Given the description of an element on the screen output the (x, y) to click on. 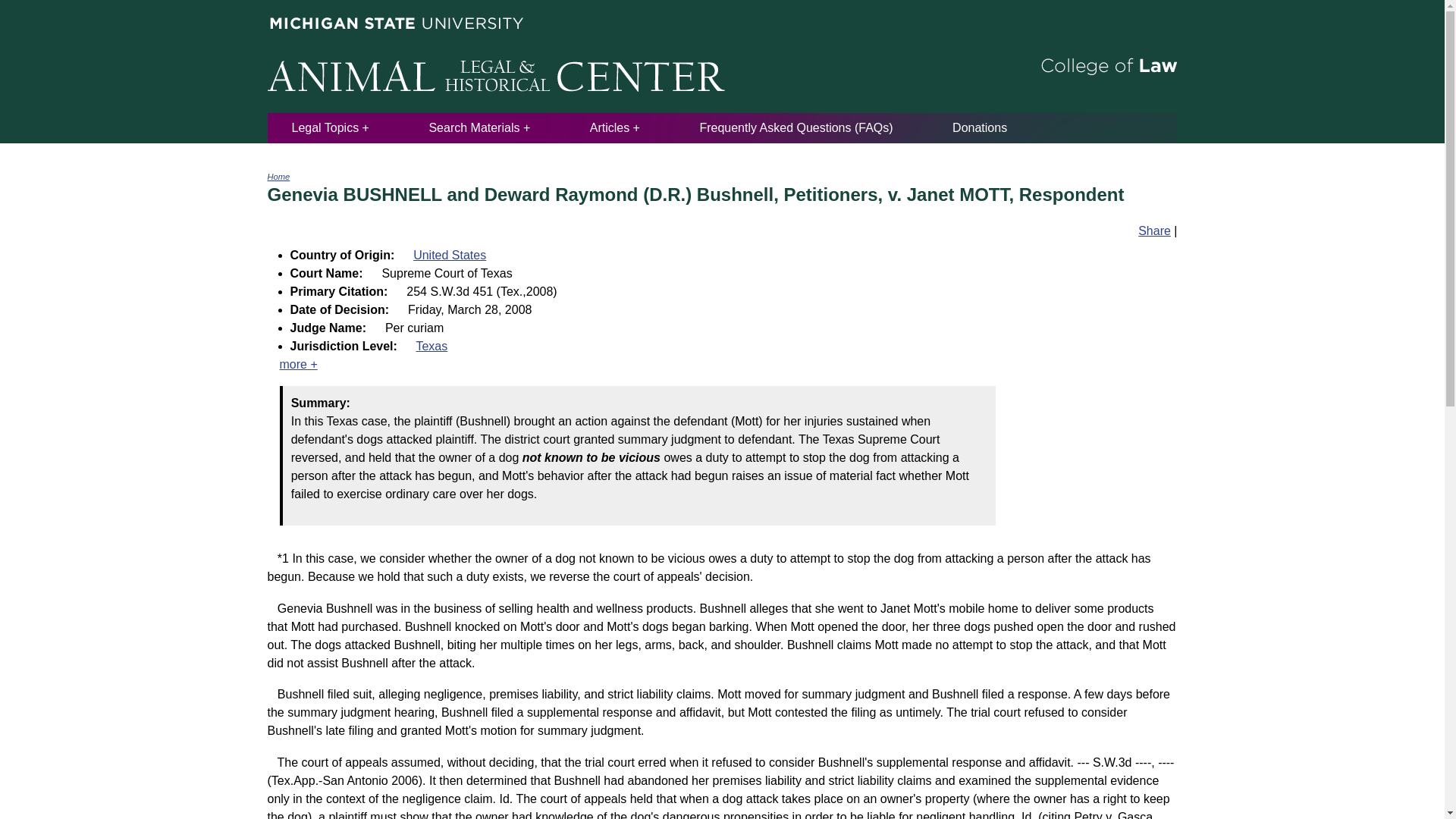
Search Materials (479, 127)
Share (1154, 230)
Texas (430, 345)
United States (449, 254)
Home (277, 175)
Legal Topics (330, 127)
Articles (615, 127)
Donations (979, 127)
